Given the description of an element on the screen output the (x, y) to click on. 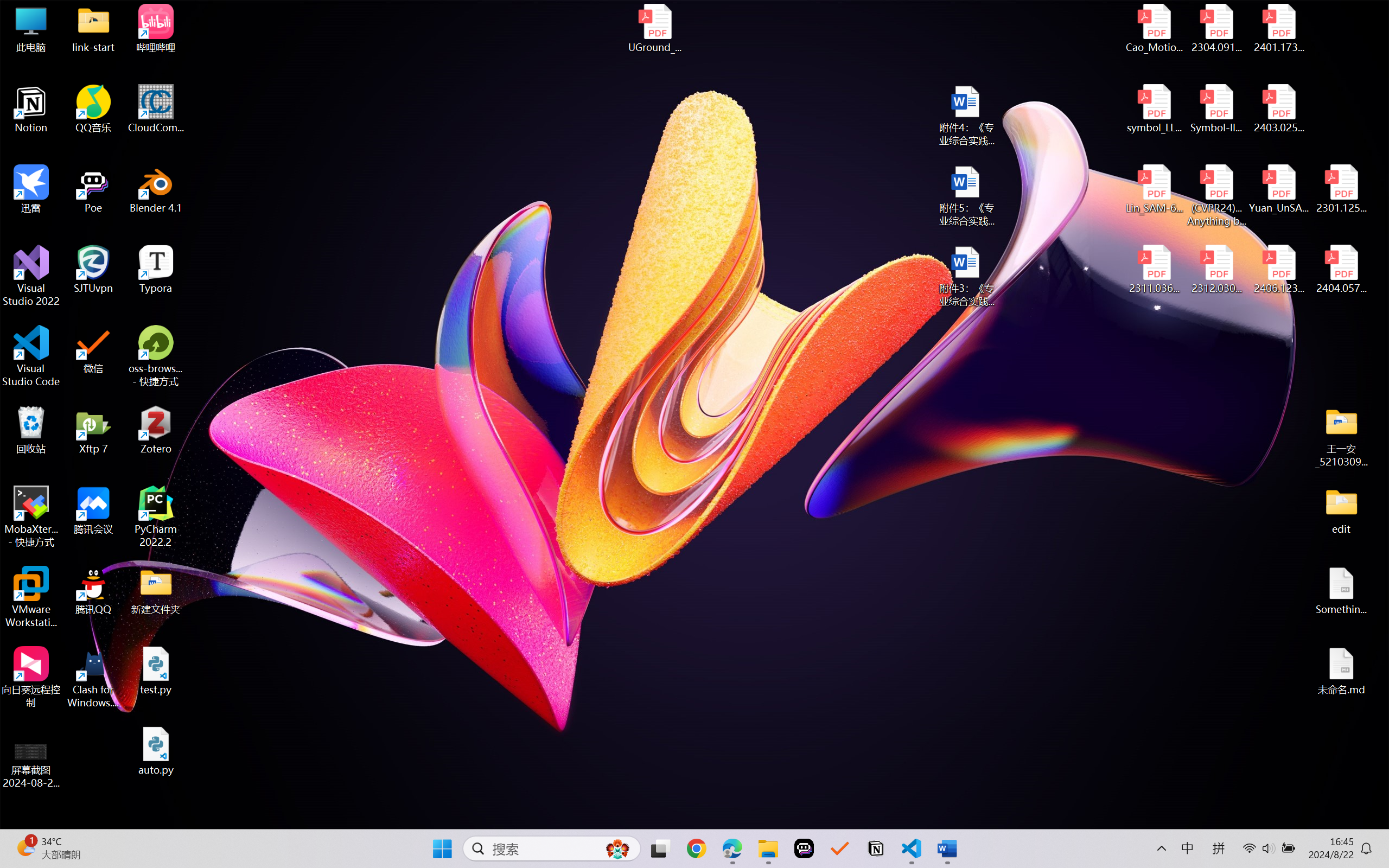
UGround_paper.pdf (654, 28)
Typora (156, 269)
2401.17399v1.pdf (1278, 28)
Google Chrome (696, 848)
symbol_LLM.pdf (1154, 109)
